Given the description of an element on the screen output the (x, y) to click on. 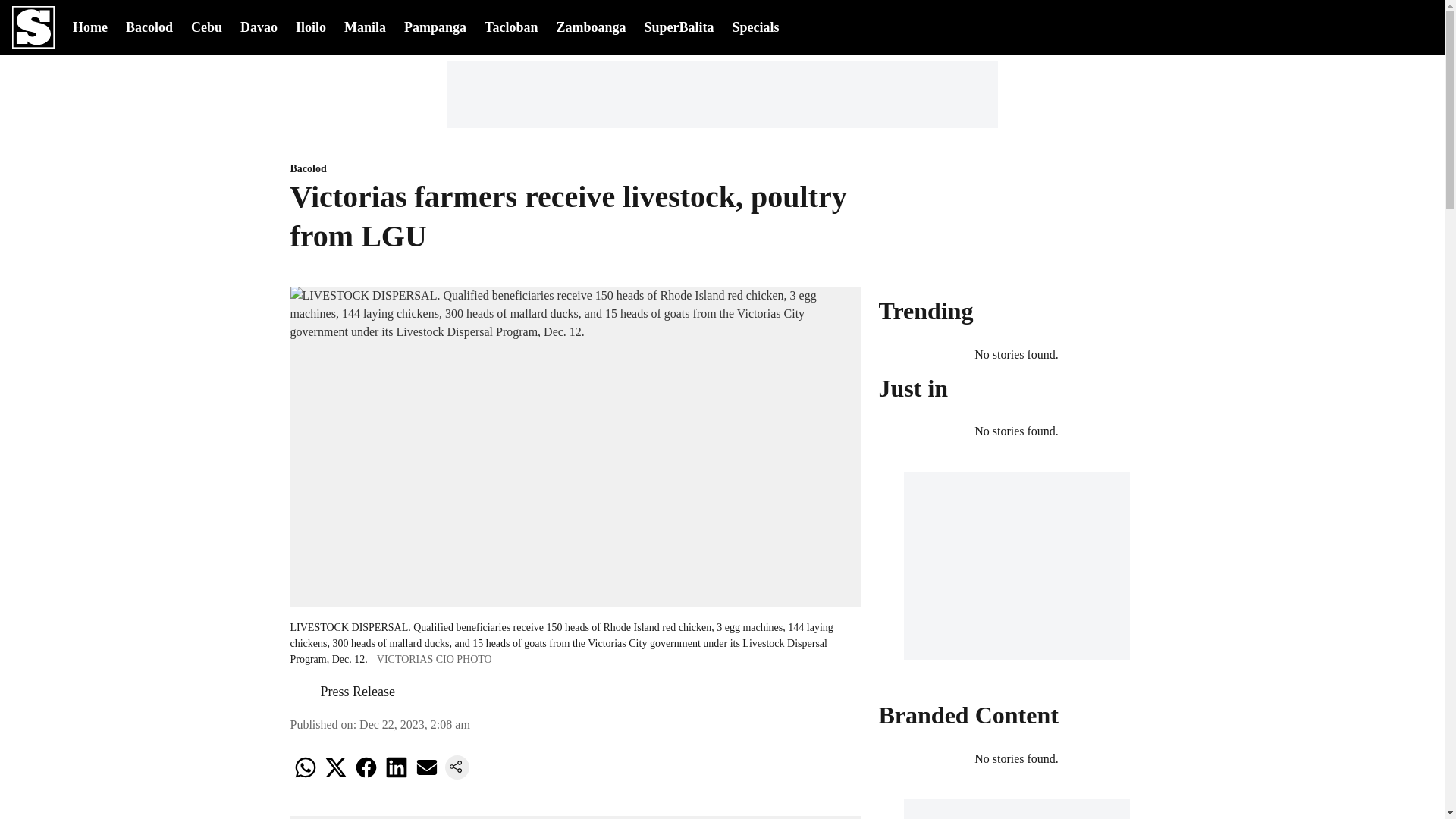
Iloilo (310, 26)
Press Release (357, 691)
Cebu (206, 26)
Home (89, 26)
2023-12-22 02:08 (414, 724)
Bacolod (574, 169)
Pampanga (434, 26)
Dark Mode (1382, 27)
Zamboanga (591, 26)
